Given the description of an element on the screen output the (x, y) to click on. 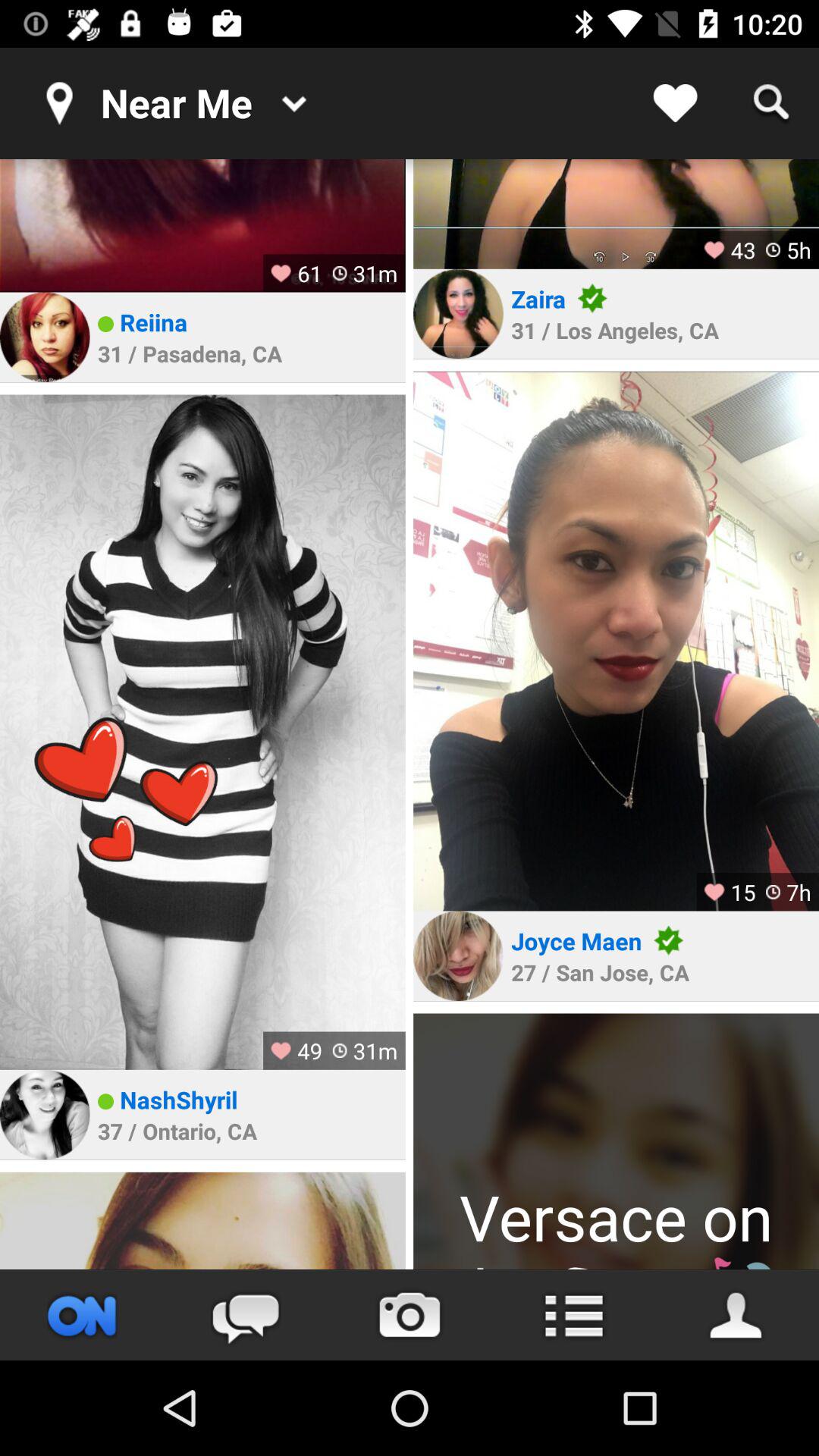
go to website (81, 1315)
